Given the description of an element on the screen output the (x, y) to click on. 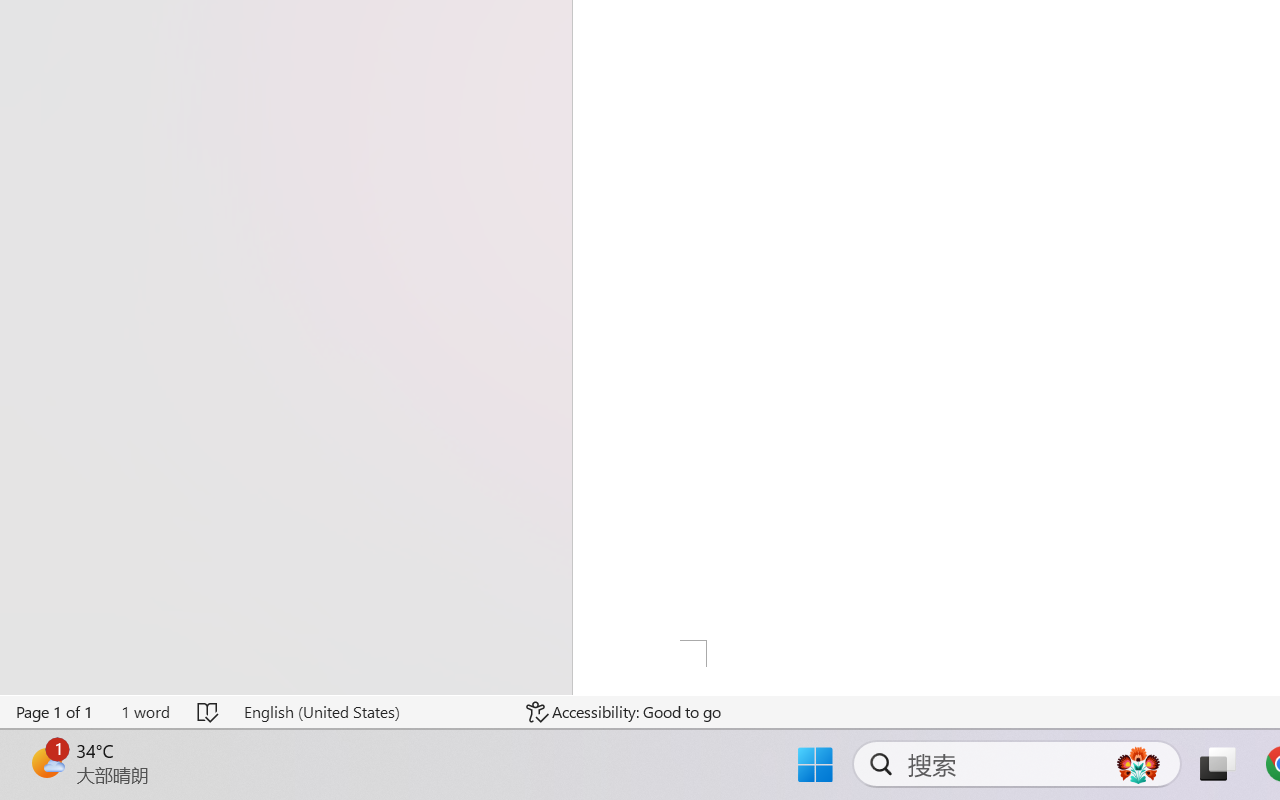
Accessibility Checker Accessibility: Good to go (623, 712)
Word Count 1 word (145, 712)
Spelling and Grammar Check No Errors (208, 712)
Language English (United States) (370, 712)
Page Number Page 1 of 1 (55, 712)
